Given the description of an element on the screen output the (x, y) to click on. 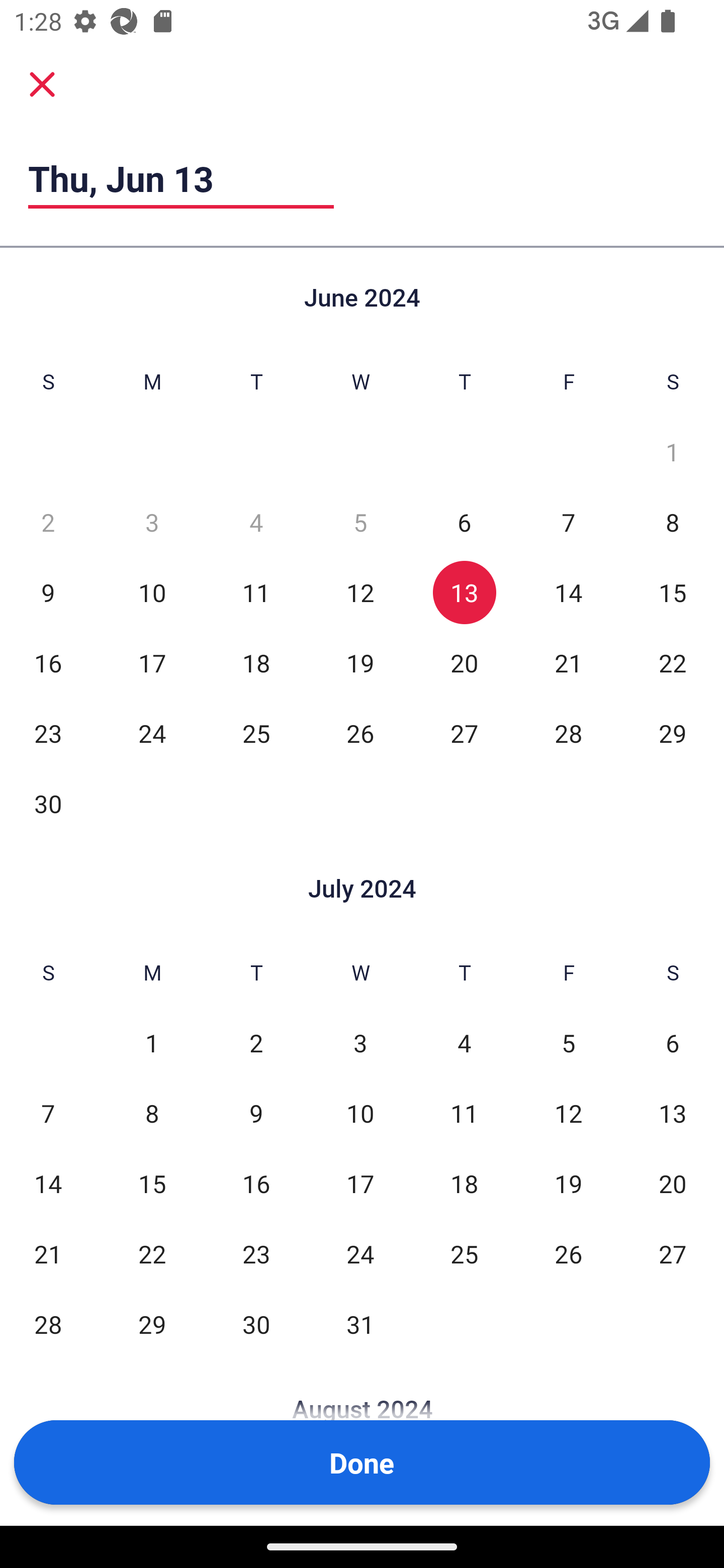
Cancel (42, 84)
Thu, Jun 13 (180, 178)
1 Sat, Jun 1, Not Selected (672, 452)
2 Sun, Jun 2, Not Selected (48, 521)
3 Mon, Jun 3, Not Selected (152, 521)
4 Tue, Jun 4, Not Selected (256, 521)
5 Wed, Jun 5, Not Selected (360, 521)
6 Thu, Jun 6, Not Selected (464, 521)
7 Fri, Jun 7, Not Selected (568, 521)
8 Sat, Jun 8, Not Selected (672, 521)
9 Sun, Jun 9, Not Selected (48, 591)
10 Mon, Jun 10, Not Selected (152, 591)
11 Tue, Jun 11, Not Selected (256, 591)
12 Wed, Jun 12, Not Selected (360, 591)
13 Thu, Jun 13, Selected (464, 591)
14 Fri, Jun 14, Not Selected (568, 591)
15 Sat, Jun 15, Not Selected (672, 591)
16 Sun, Jun 16, Not Selected (48, 662)
17 Mon, Jun 17, Not Selected (152, 662)
18 Tue, Jun 18, Not Selected (256, 662)
19 Wed, Jun 19, Not Selected (360, 662)
20 Thu, Jun 20, Not Selected (464, 662)
21 Fri, Jun 21, Not Selected (568, 662)
22 Sat, Jun 22, Not Selected (672, 662)
23 Sun, Jun 23, Not Selected (48, 732)
24 Mon, Jun 24, Not Selected (152, 732)
25 Tue, Jun 25, Not Selected (256, 732)
26 Wed, Jun 26, Not Selected (360, 732)
27 Thu, Jun 27, Not Selected (464, 732)
28 Fri, Jun 28, Not Selected (568, 732)
29 Sat, Jun 29, Not Selected (672, 732)
30 Sun, Jun 30, Not Selected (48, 803)
1 Mon, Jul 1, Not Selected (152, 1043)
2 Tue, Jul 2, Not Selected (256, 1043)
3 Wed, Jul 3, Not Selected (360, 1043)
4 Thu, Jul 4, Not Selected (464, 1043)
5 Fri, Jul 5, Not Selected (568, 1043)
6 Sat, Jul 6, Not Selected (672, 1043)
7 Sun, Jul 7, Not Selected (48, 1112)
8 Mon, Jul 8, Not Selected (152, 1112)
9 Tue, Jul 9, Not Selected (256, 1112)
10 Wed, Jul 10, Not Selected (360, 1112)
11 Thu, Jul 11, Not Selected (464, 1112)
12 Fri, Jul 12, Not Selected (568, 1112)
13 Sat, Jul 13, Not Selected (672, 1112)
14 Sun, Jul 14, Not Selected (48, 1182)
15 Mon, Jul 15, Not Selected (152, 1182)
16 Tue, Jul 16, Not Selected (256, 1182)
17 Wed, Jul 17, Not Selected (360, 1182)
18 Thu, Jul 18, Not Selected (464, 1182)
19 Fri, Jul 19, Not Selected (568, 1182)
20 Sat, Jul 20, Not Selected (672, 1182)
21 Sun, Jul 21, Not Selected (48, 1253)
22 Mon, Jul 22, Not Selected (152, 1253)
23 Tue, Jul 23, Not Selected (256, 1253)
24 Wed, Jul 24, Not Selected (360, 1253)
25 Thu, Jul 25, Not Selected (464, 1253)
26 Fri, Jul 26, Not Selected (568, 1253)
27 Sat, Jul 27, Not Selected (672, 1253)
28 Sun, Jul 28, Not Selected (48, 1323)
29 Mon, Jul 29, Not Selected (152, 1323)
30 Tue, Jul 30, Not Selected (256, 1323)
31 Wed, Jul 31, Not Selected (360, 1323)
Done Button Done (361, 1462)
